Given the description of an element on the screen output the (x, y) to click on. 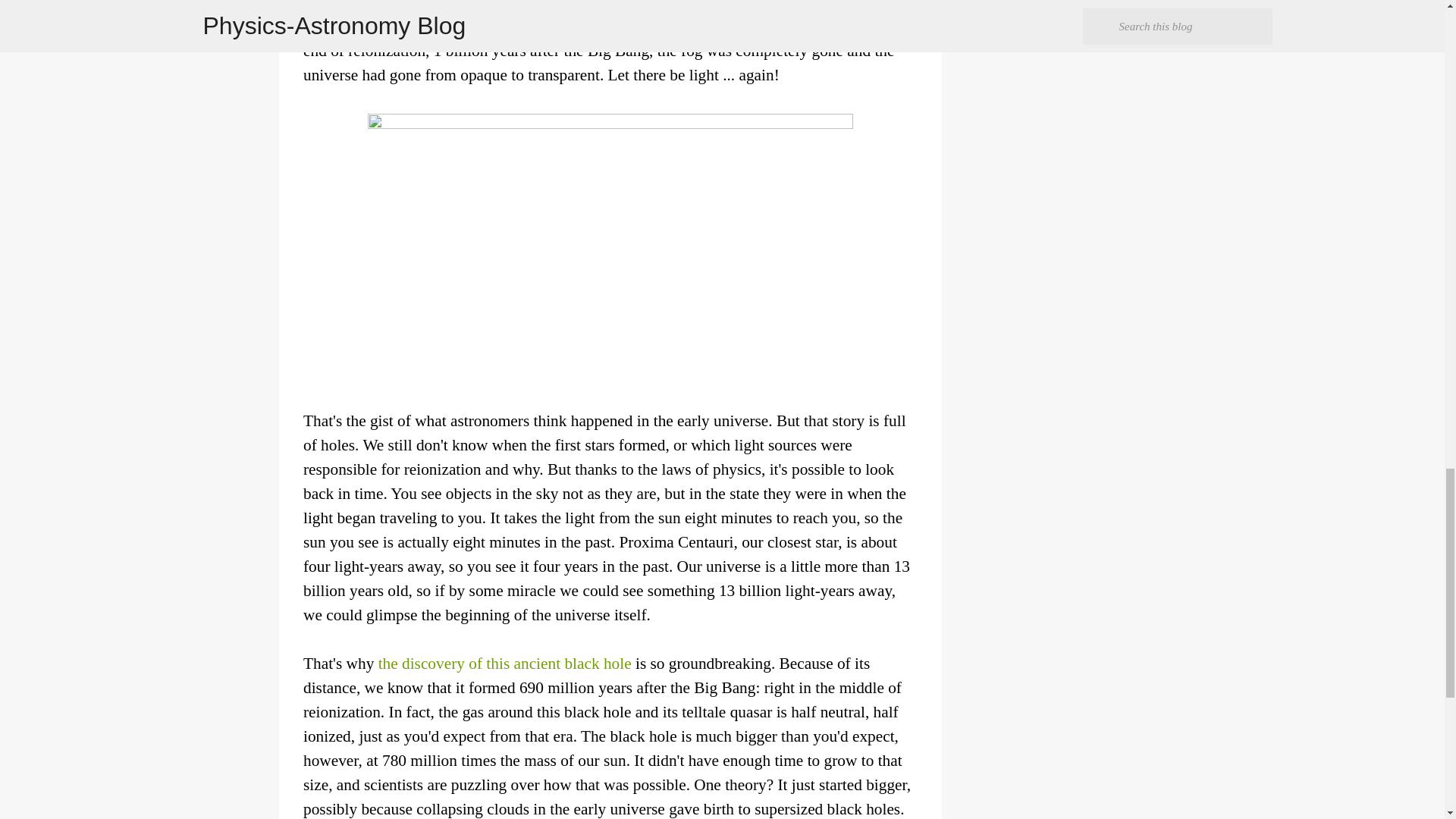
the discovery of this ancient black hole (504, 663)
